Given the description of an element on the screen output the (x, y) to click on. 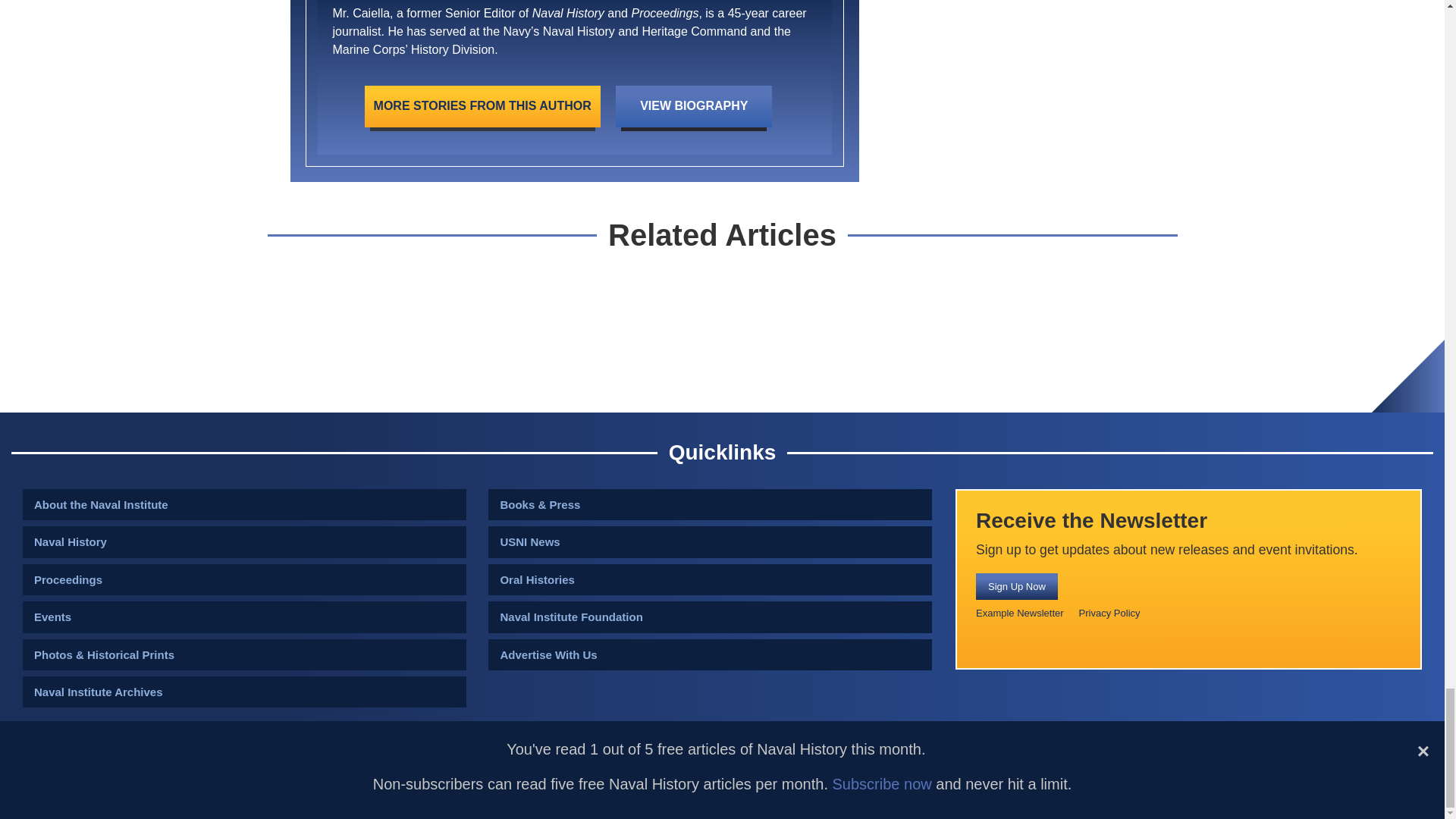
Advertise With Us (709, 654)
